Given the description of an element on the screen output the (x, y) to click on. 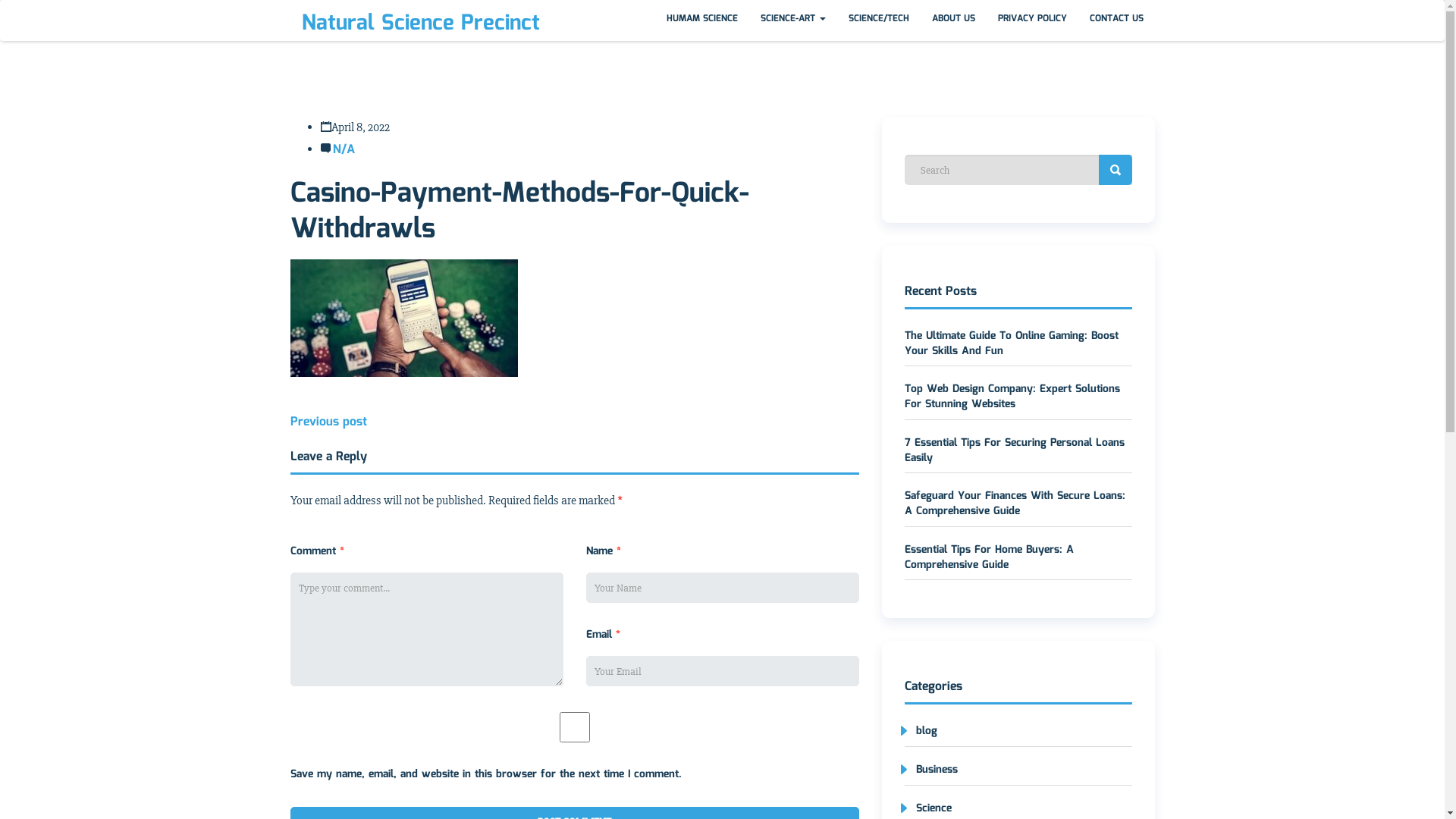
N/A Element type: text (343, 149)
Business Element type: text (930, 769)
PRIVACY POLICY Element type: text (1031, 20)
7 Essential Tips For Securing Personal Loans Easily Element type: text (1013, 450)
Previous post Element type: text (327, 421)
Natural Science Precinct Element type: text (420, 23)
Essential Tips For Home Buyers: A Comprehensive Guide Element type: text (988, 557)
SCIENCE/TECH Element type: text (878, 20)
SCIENCE-ART Element type: text (793, 20)
blog Element type: text (919, 730)
Science Element type: text (926, 808)
HUMAM SCIENCE Element type: text (702, 20)
ABOUT US Element type: text (953, 20)
CONTACT US Element type: text (1116, 20)
